Given the description of an element on the screen output the (x, y) to click on. 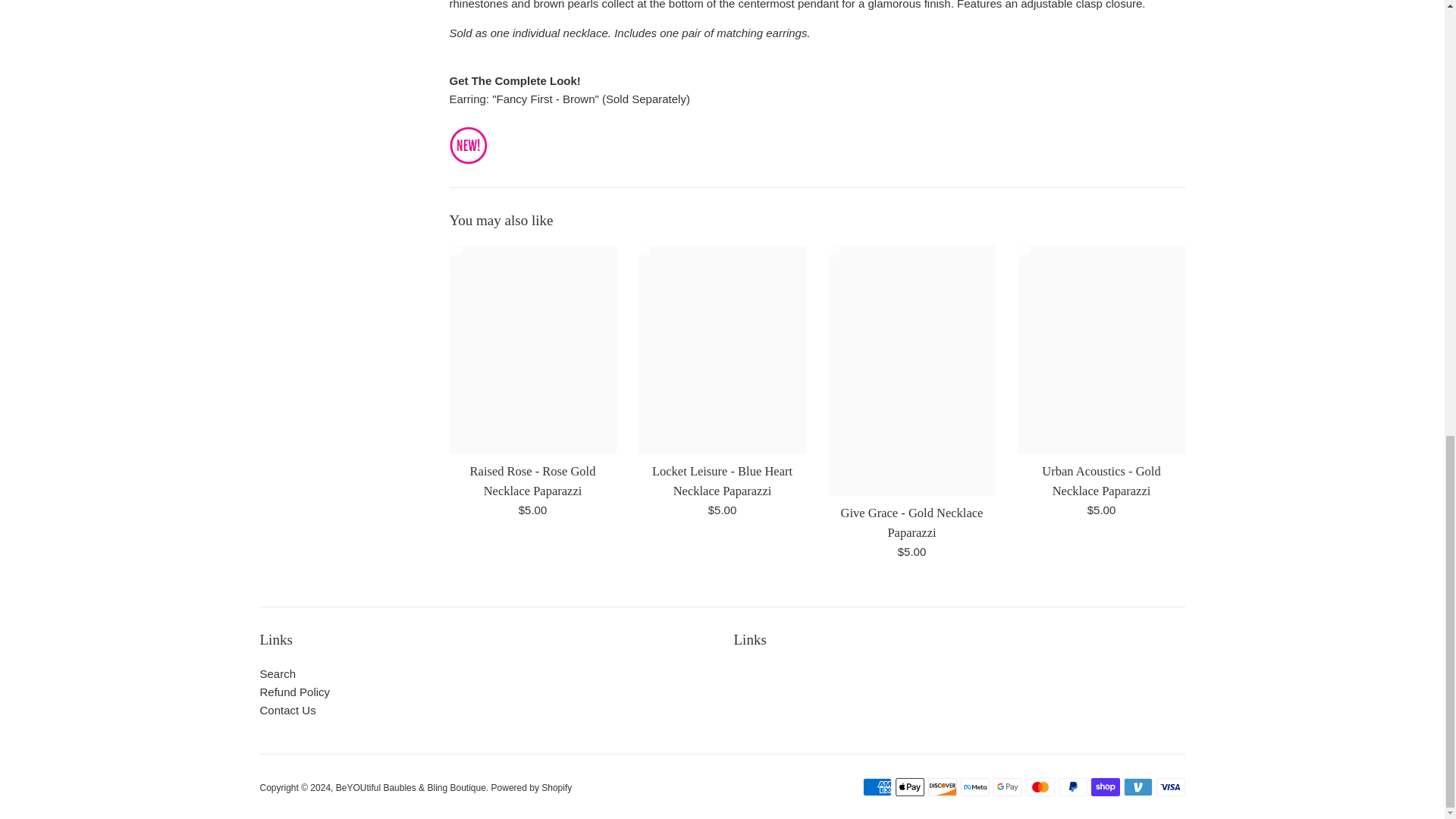
Visa (1170, 787)
Give Grace - Gold Necklace Paparazzi (912, 522)
Locket Leisure - Blue Heart Necklace Paparazzi (722, 480)
Urban Acoustics - Gold Necklace Paparazzi (1101, 480)
Discover (942, 787)
Meta Pay (973, 787)
Contact Us (287, 709)
Venmo (1138, 787)
Search (277, 673)
American Express (877, 787)
Powered by Shopify (532, 787)
PayPal (1072, 787)
Refund Policy (294, 691)
Shop Pay (1104, 787)
Raised Rose - Rose Gold Necklace Paparazzi (532, 480)
